Given the description of an element on the screen output the (x, y) to click on. 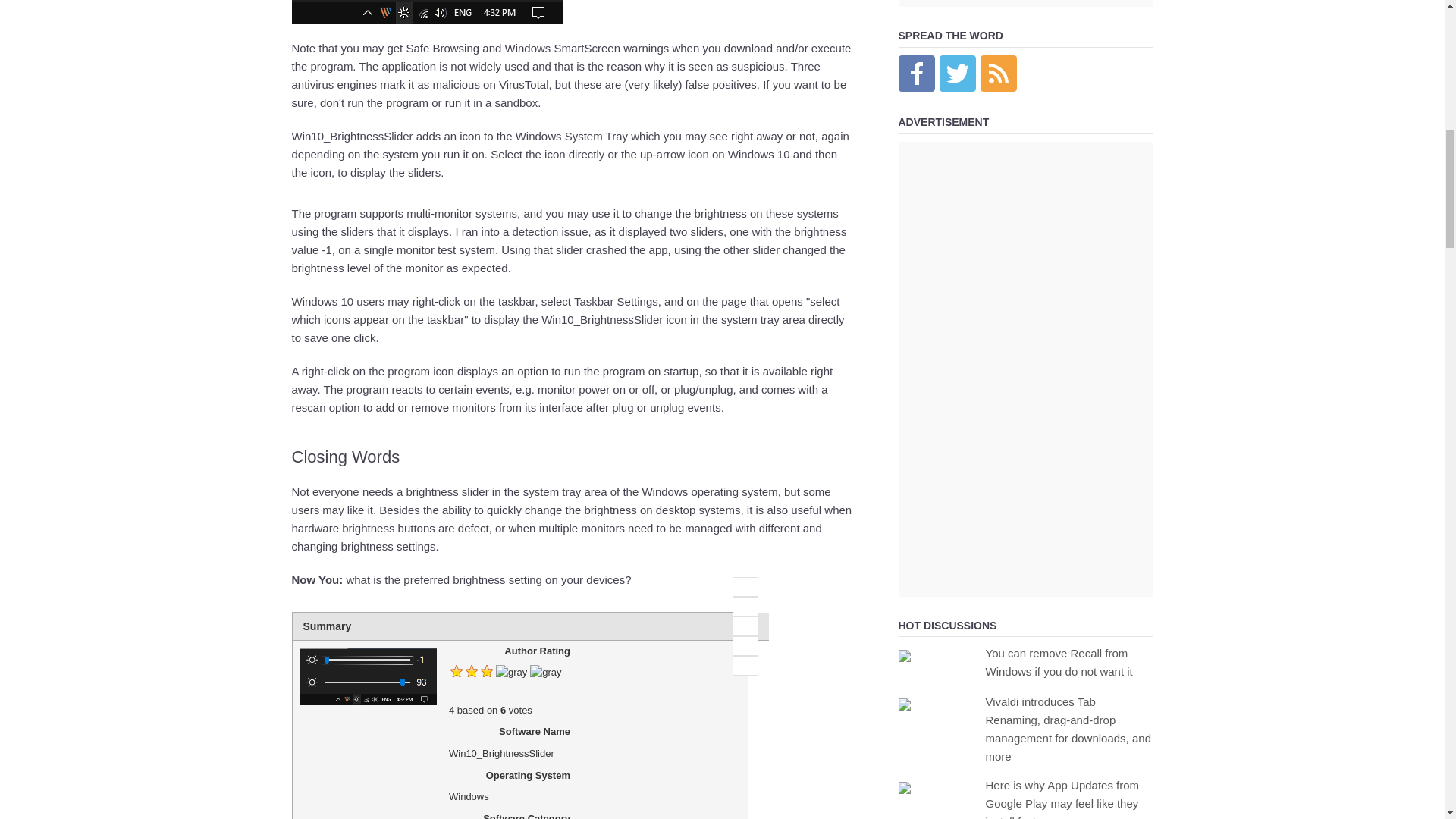
4 (745, 646)
1 (745, 587)
2 (745, 606)
5 (745, 665)
3 (745, 626)
